Given the description of an element on the screen output the (x, y) to click on. 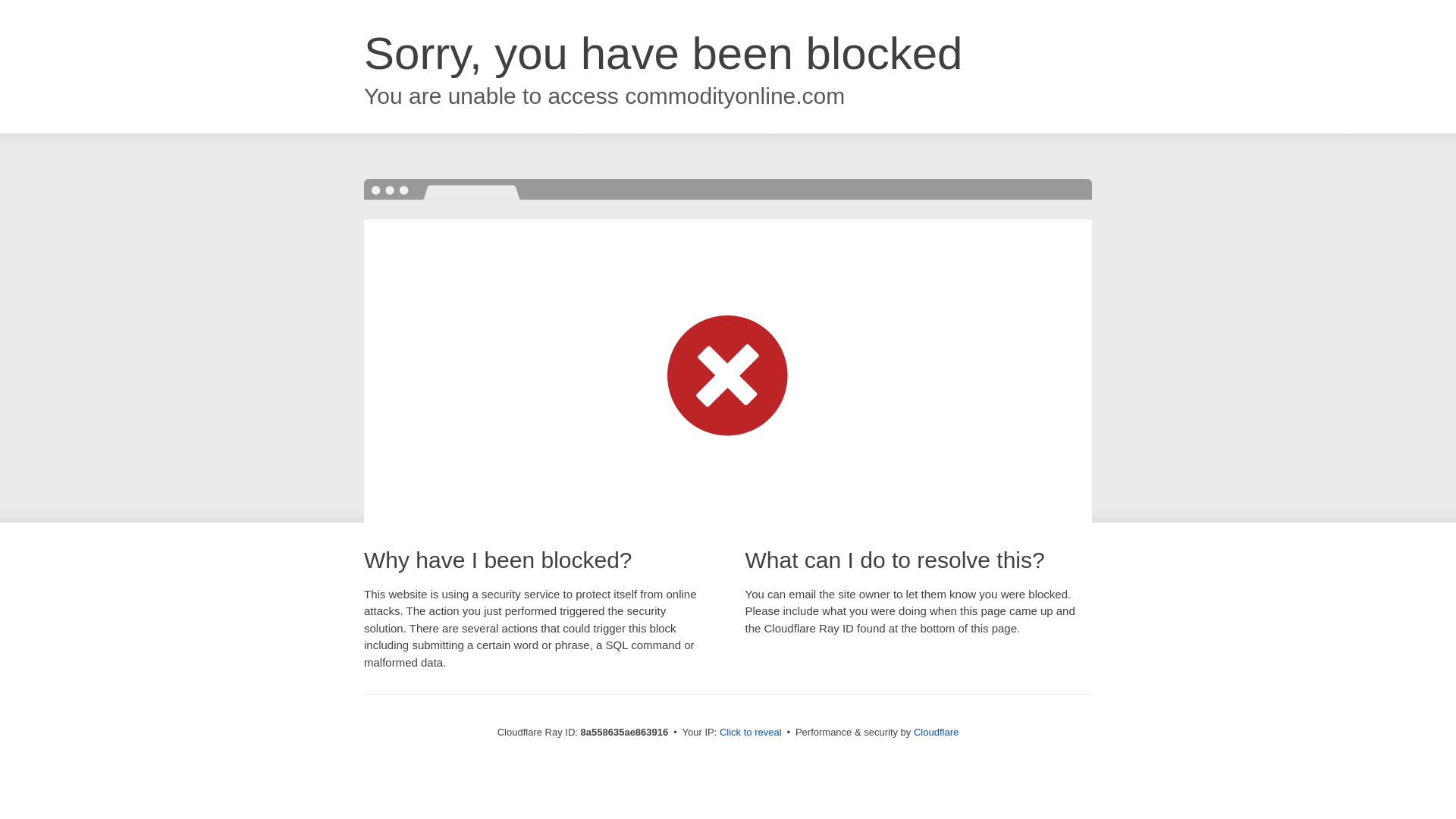
Cloudflare (936, 731)
Click to reveal (750, 732)
